Given the description of an element on the screen output the (x, y) to click on. 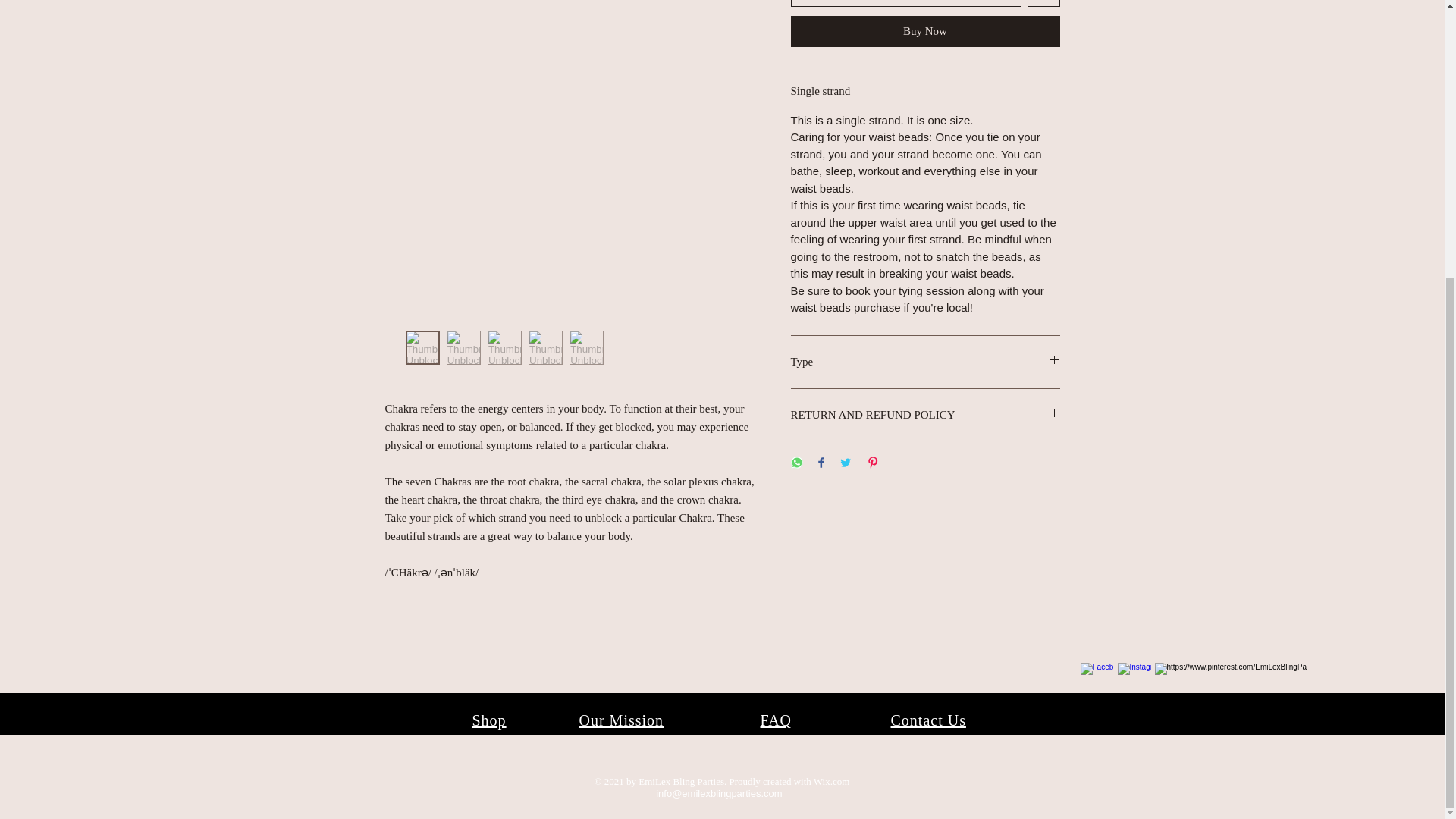
Type (924, 361)
RETURN AND REFUND POLICY (924, 415)
Buy Now (924, 30)
Add to Cart (906, 3)
Contact Us (927, 719)
Wix.com (831, 781)
FAQ (776, 719)
Single strand (924, 91)
Shop (488, 719)
Our Mission (621, 719)
